Given the description of an element on the screen output the (x, y) to click on. 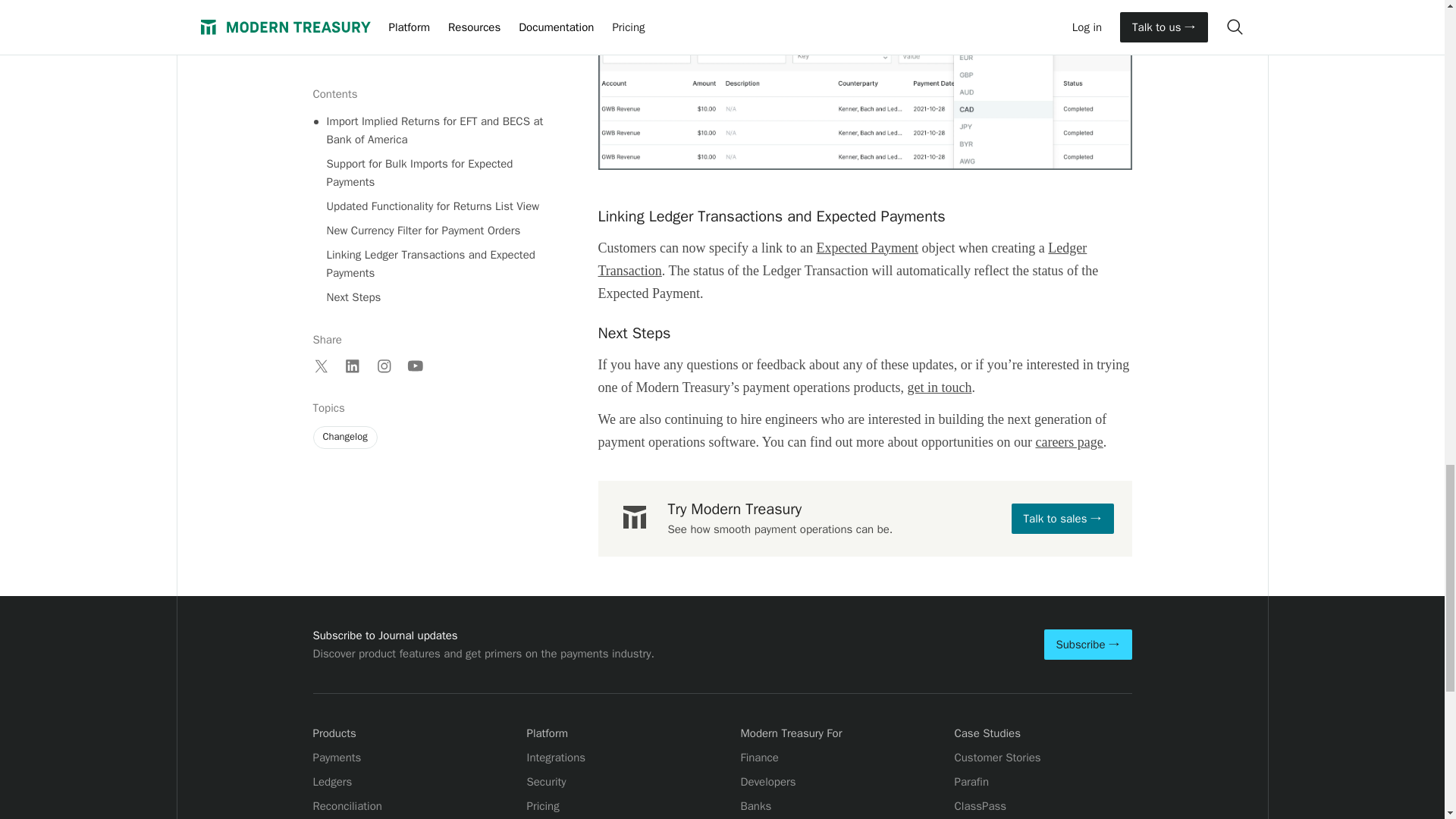
Payments (337, 757)
get in touch (939, 387)
careers page (1068, 441)
Expected Payment (866, 247)
Ledger Transaction (841, 259)
